Given the description of an element on the screen output the (x, y) to click on. 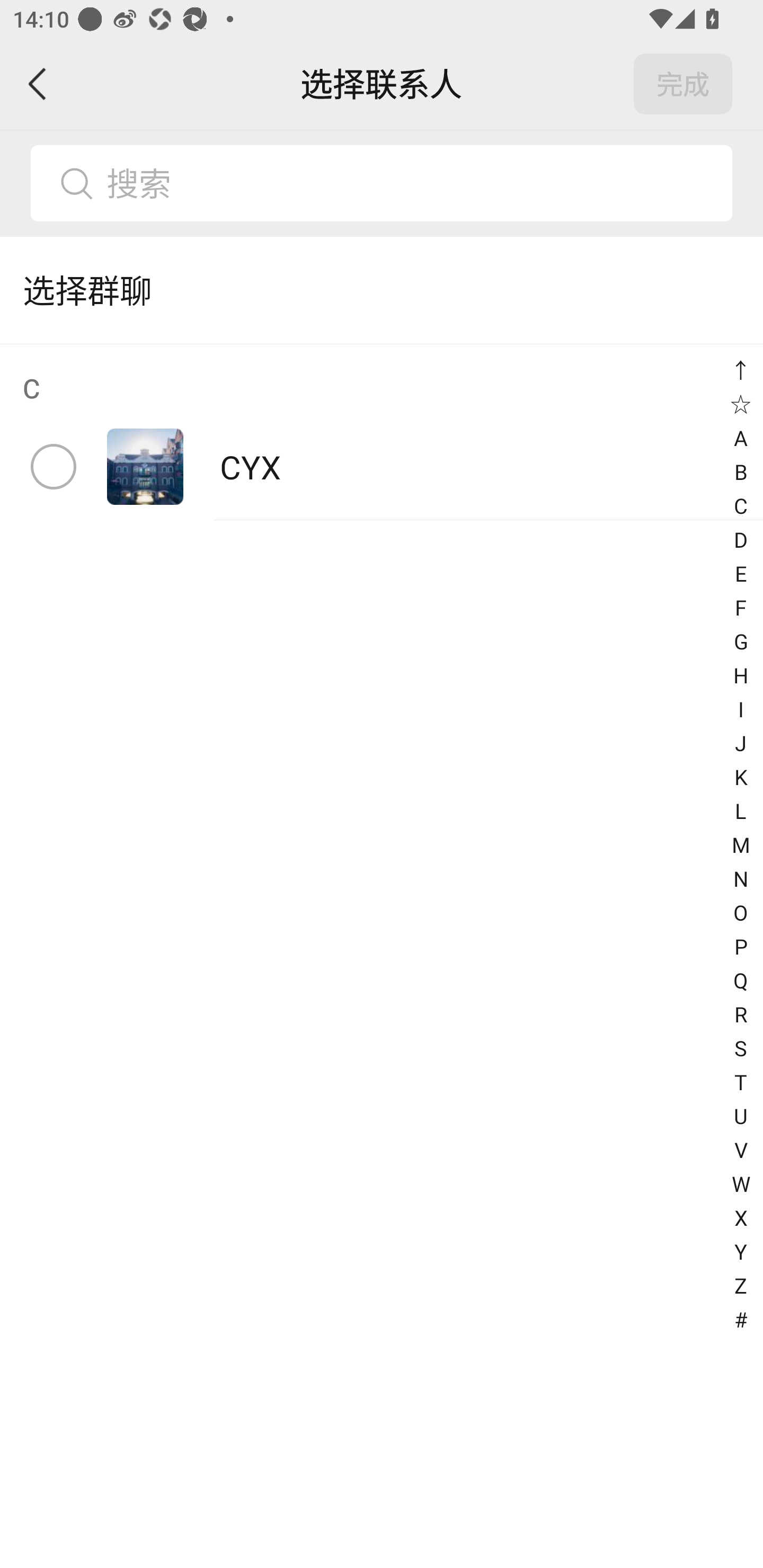
返回 (38, 83)
完成 (683, 83)
搜索 (381, 183)
搜索 (411, 183)
选择群聊 (381, 290)
C CYX (381, 432)
